Given the description of an element on the screen output the (x, y) to click on. 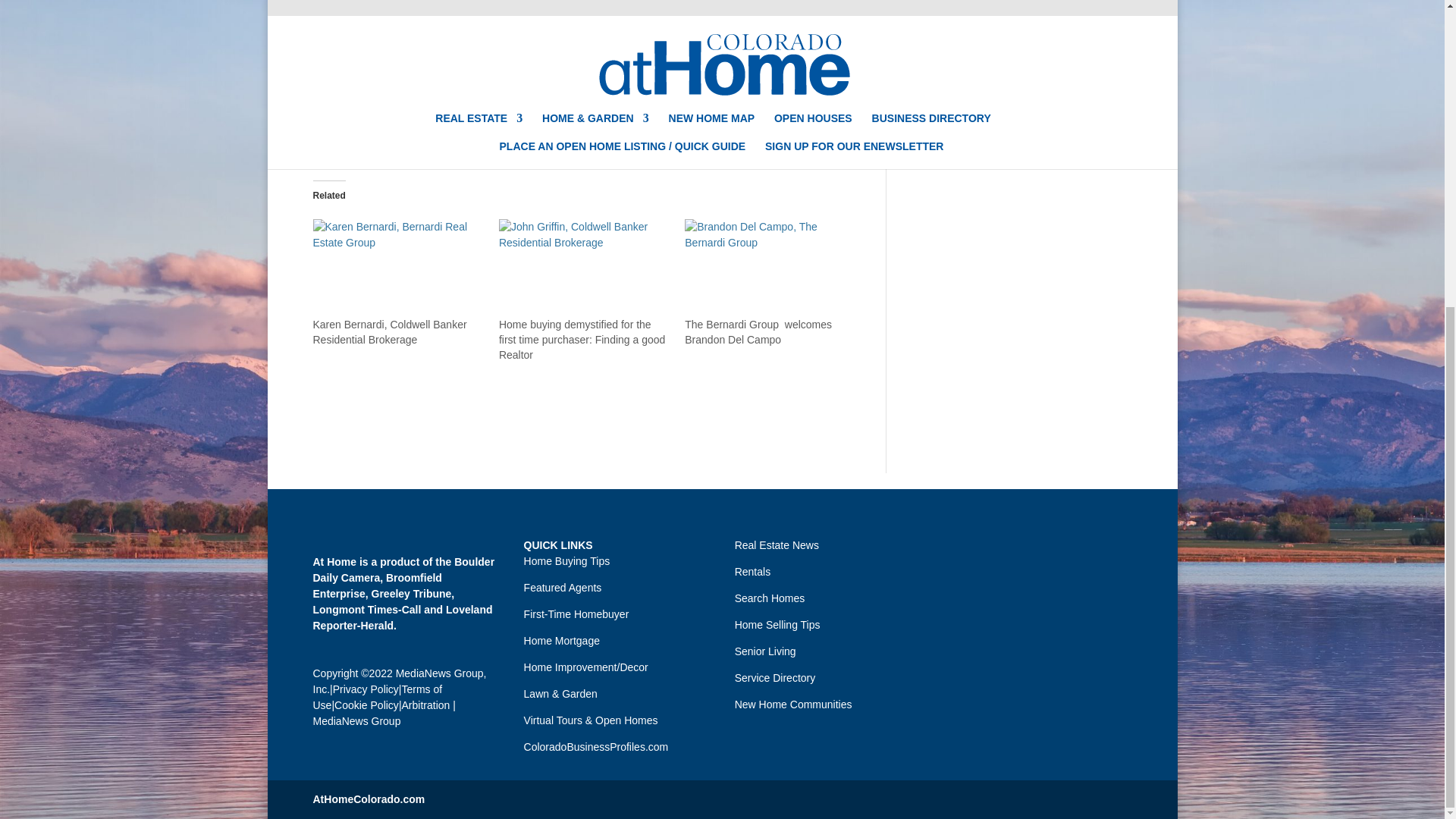
AtHomeColorado.com (369, 799)
Click to share on Facebook (354, 136)
Karen Bernardi, Coldwell Banker Residential Brokerage (389, 331)
Click to share on Twitter (384, 136)
Click to share on Pinterest (415, 136)
Karen Bernardi, Coldwell Banker Residential Brokerage (398, 267)
303.449.5000 (664, 78)
Click to print (324, 136)
